Given the description of an element on the screen output the (x, y) to click on. 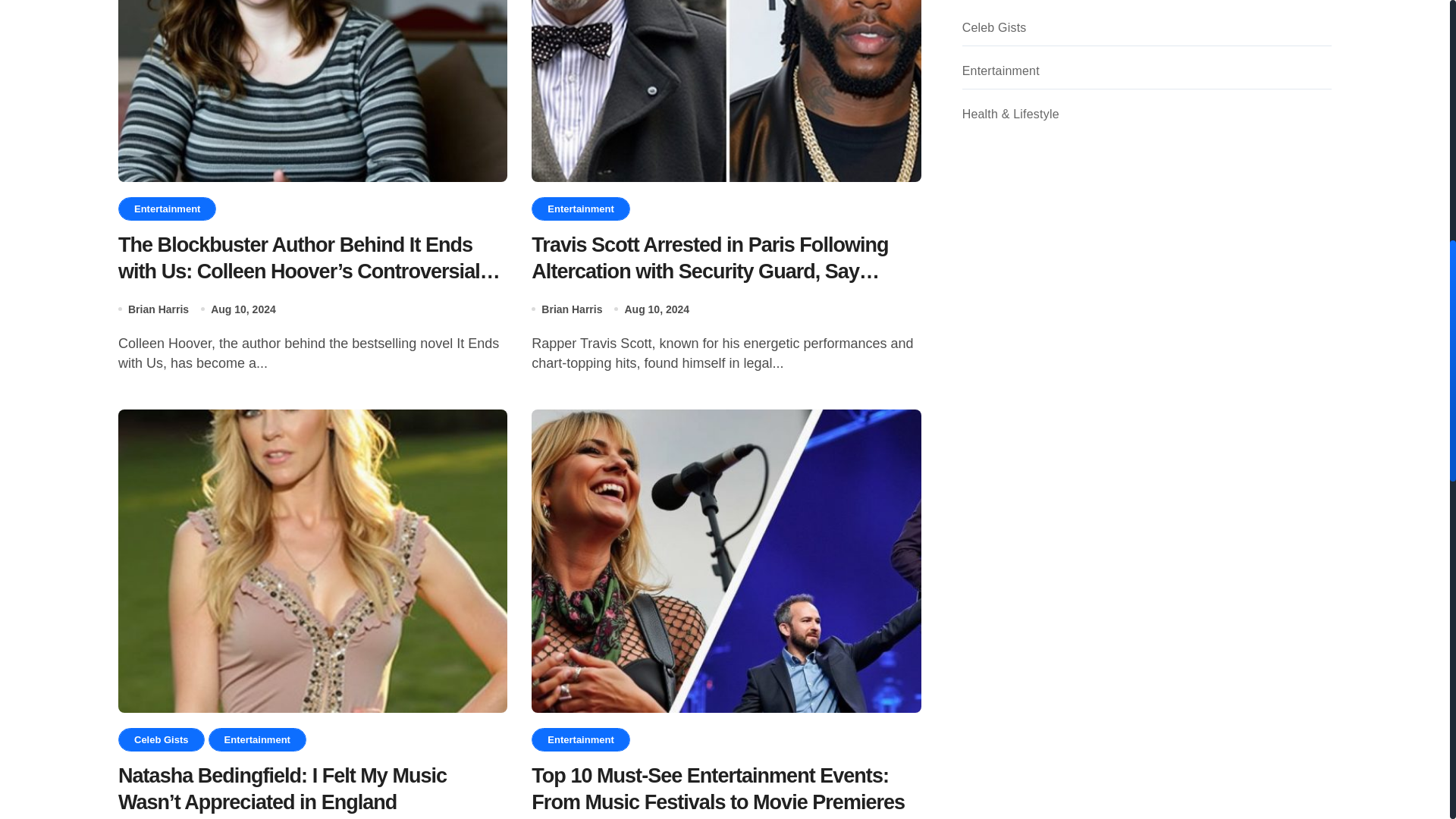
Aug 10, 2024 (243, 309)
Brian Harris (571, 309)
Entertainment (256, 739)
Entertainment (166, 208)
Brian Harris (158, 309)
Entertainment (579, 208)
Celeb Gists (161, 739)
Entertainment (579, 739)
Aug 10, 2024 (656, 309)
